Given the description of an element on the screen output the (x, y) to click on. 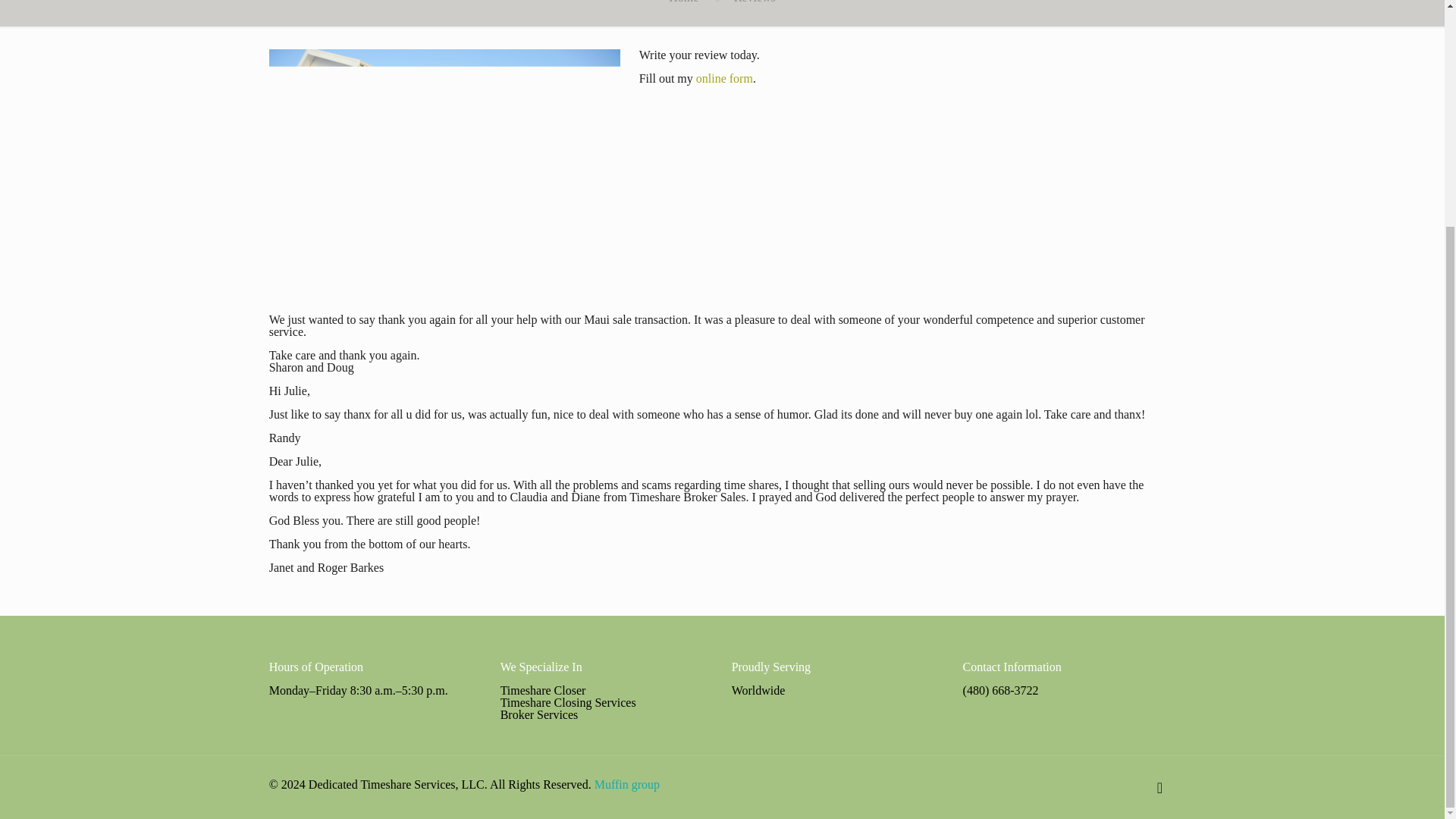
Home (683, 2)
Reviews (754, 2)
Muffin group (626, 784)
online form (723, 78)
Generational family sitting on porch (445, 166)
